Given the description of an element on the screen output the (x, y) to click on. 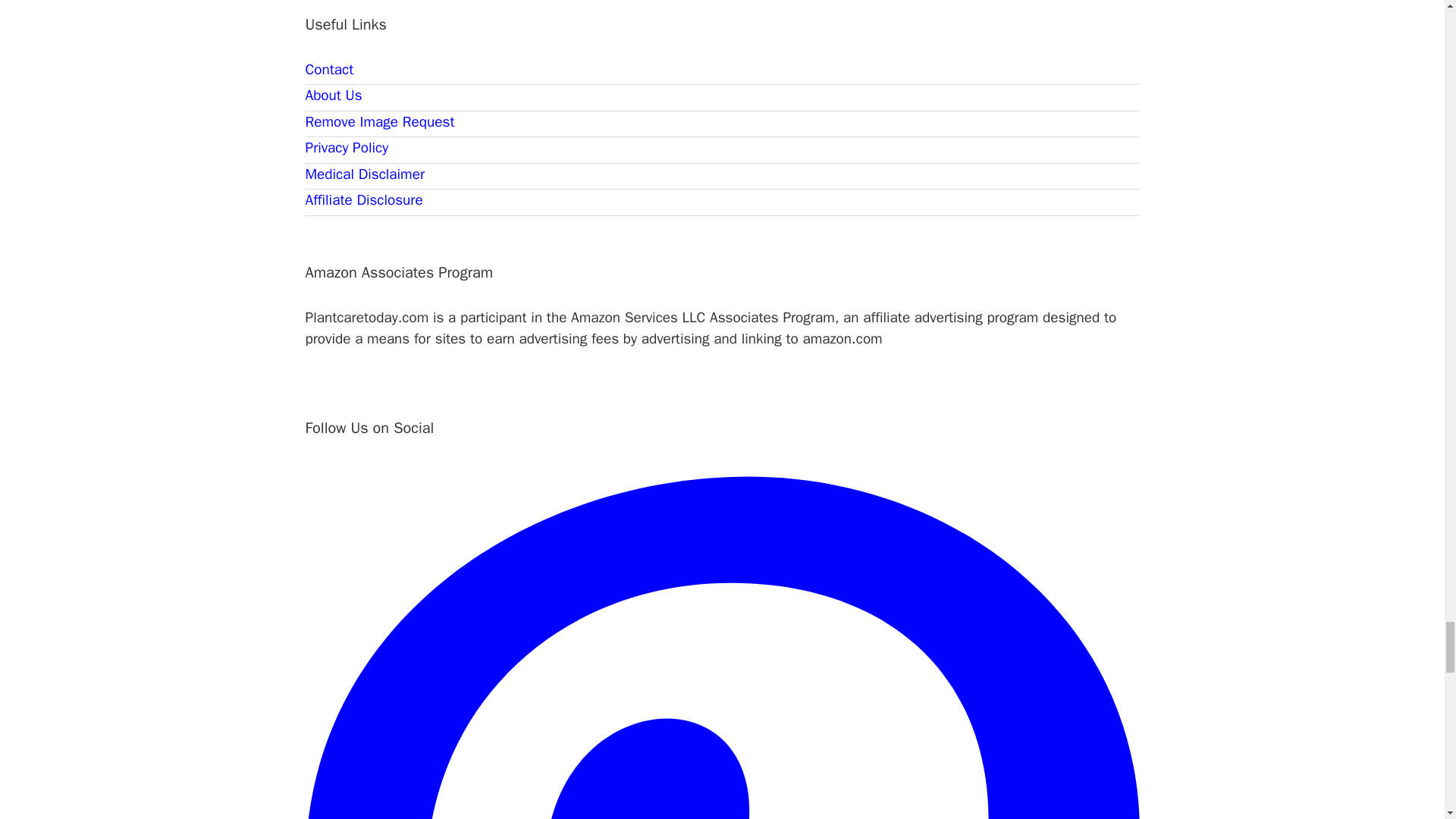
Privacy Policy (346, 147)
About Us (332, 95)
Remove Image Request (379, 122)
Contact (328, 69)
